Given the description of an element on the screen output the (x, y) to click on. 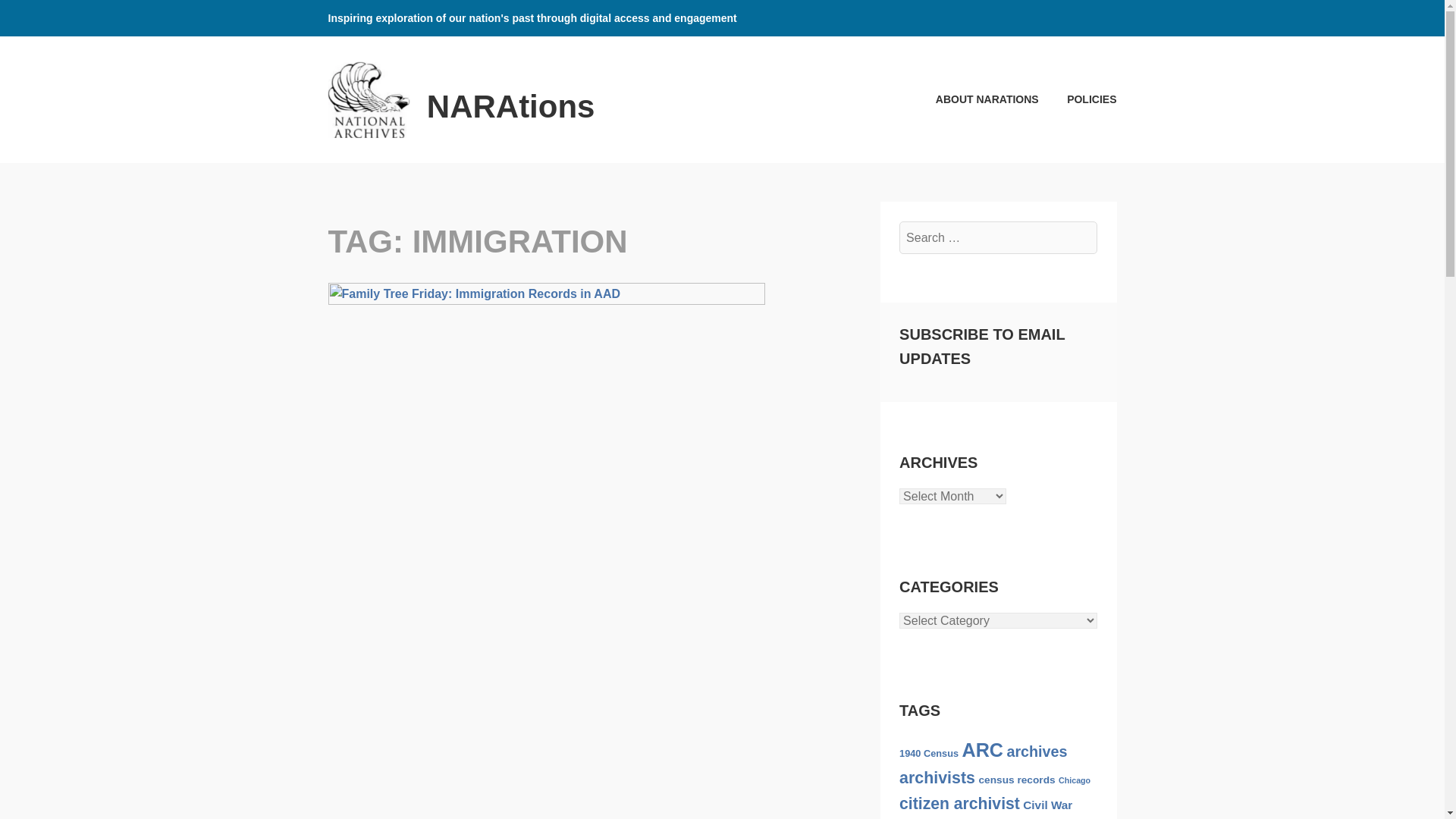
NARAtions (510, 106)
ABOUT NARATIONS (974, 99)
POLICIES (1079, 99)
